Given the description of an element on the screen output the (x, y) to click on. 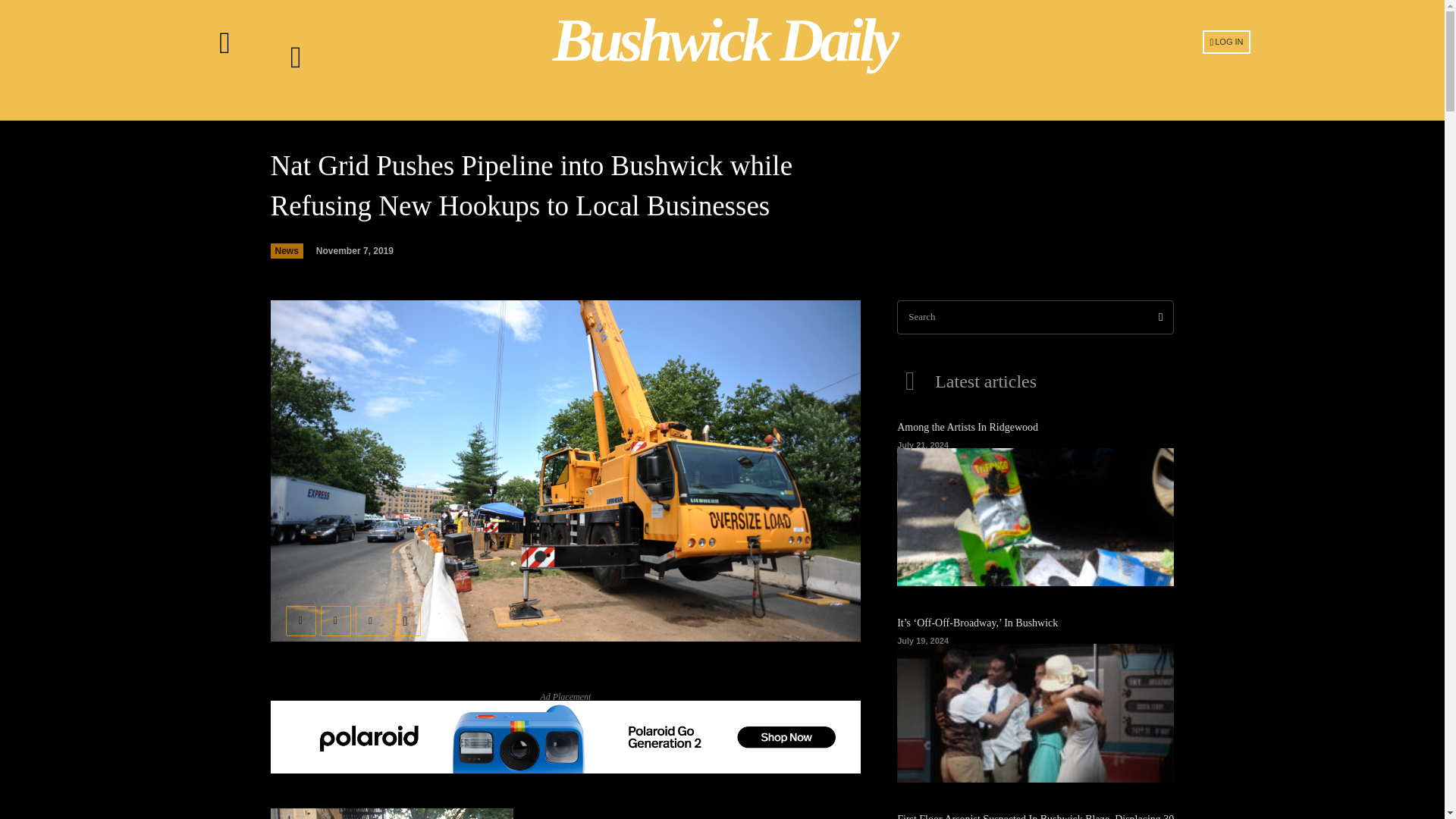
Facebook (300, 621)
Pinterest (370, 621)
Bushwick Daily (724, 40)
Twitter (335, 621)
LOG IN (1226, 41)
Among the Artists In Ridgewood (1034, 517)
News (285, 250)
WhatsApp (405, 621)
Among the Artists In Ridgewood (967, 427)
